Given the description of an element on the screen output the (x, y) to click on. 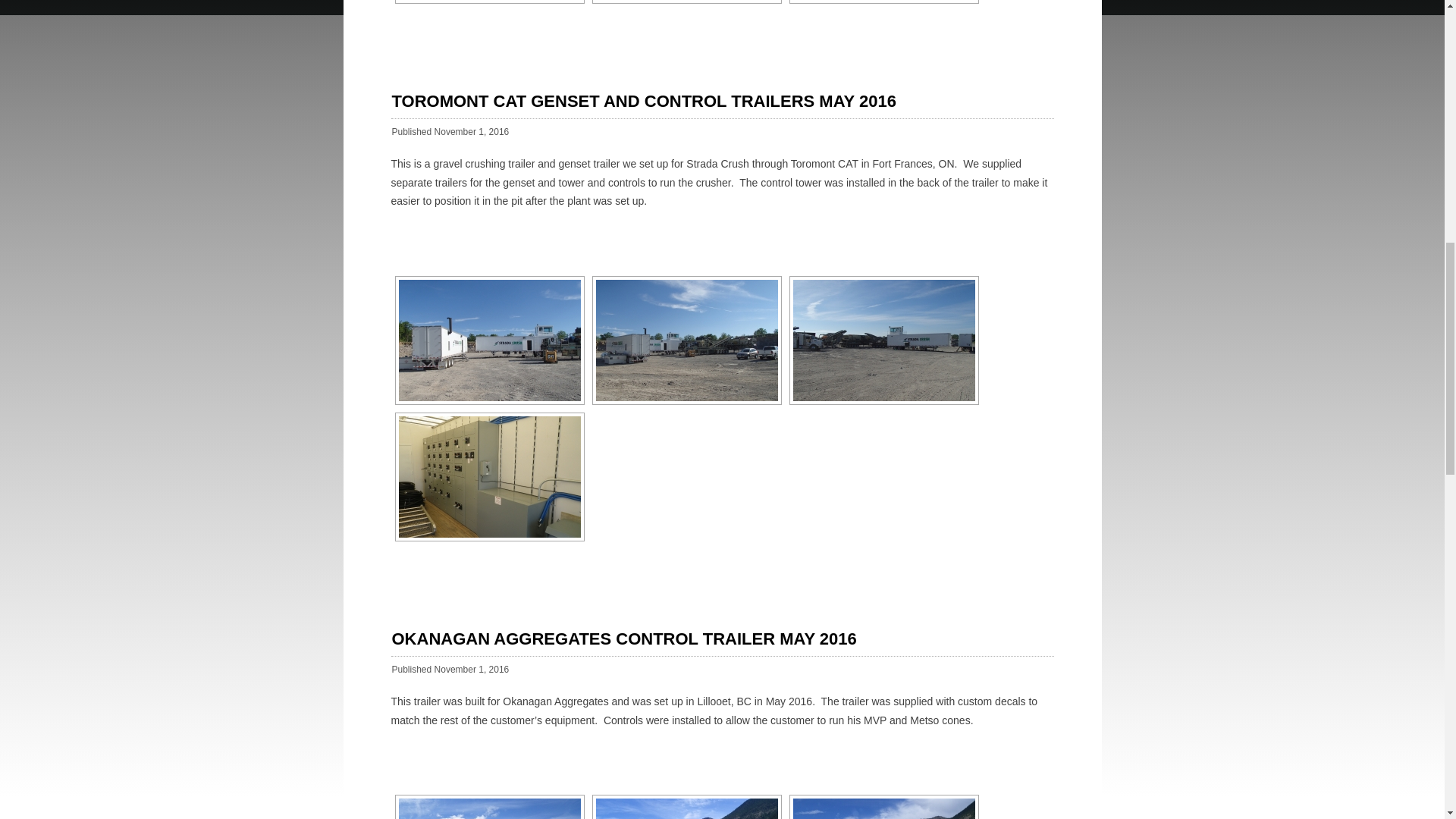
TOROMONT CAT GENSET AND CONTROL TRAILERS MAY 2016 (643, 100)
OKANAGAN AGGREGATES CONTROL TRAILER MAY 2016 (623, 638)
